Given the description of an element on the screen output the (x, y) to click on. 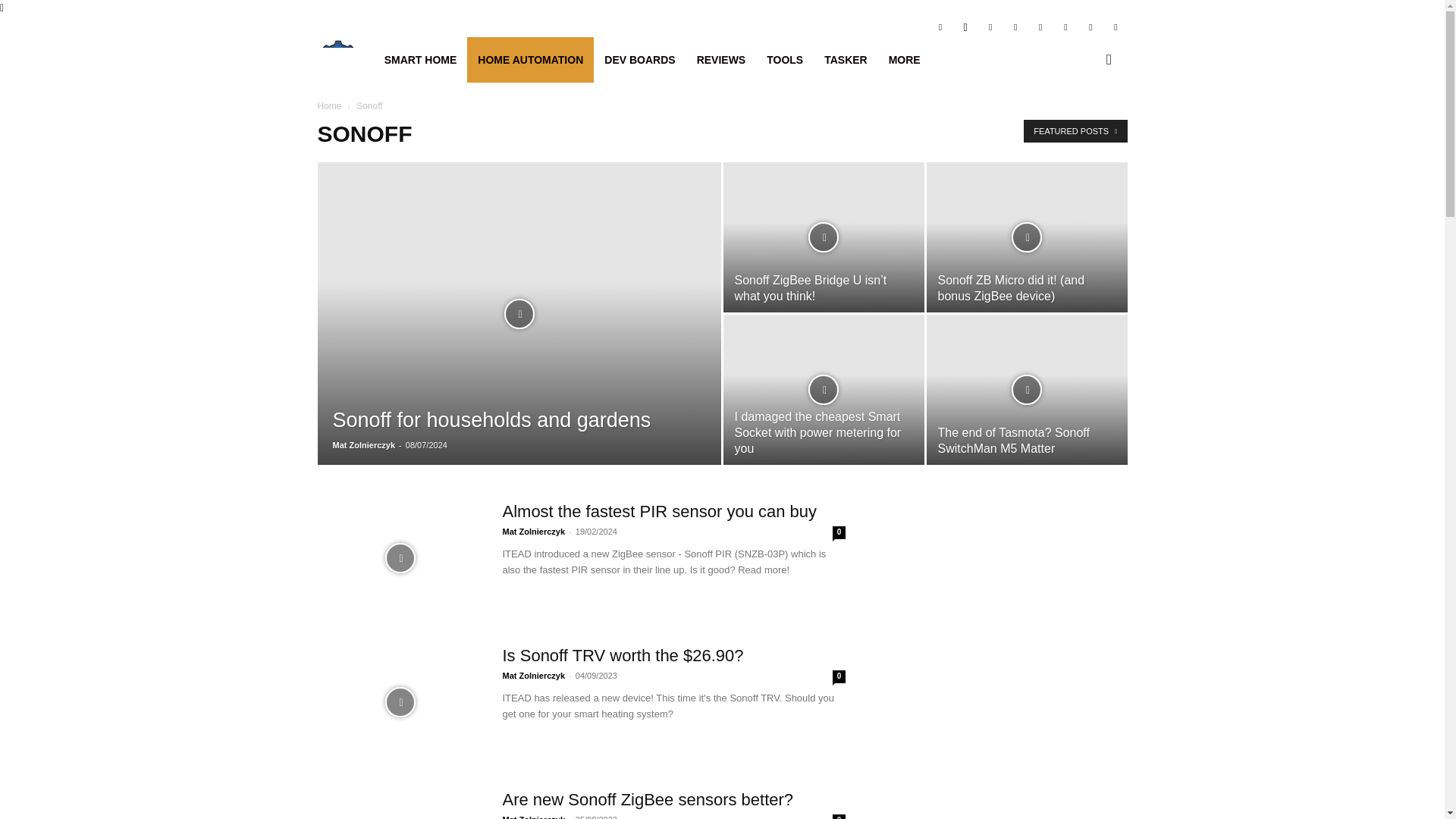
Facebook (940, 25)
Linkedin (989, 25)
Paypal (1015, 25)
Instagram (964, 25)
Twitter (1090, 25)
Twitch (1065, 25)
Reddit (1040, 25)
